Given the description of an element on the screen output the (x, y) to click on. 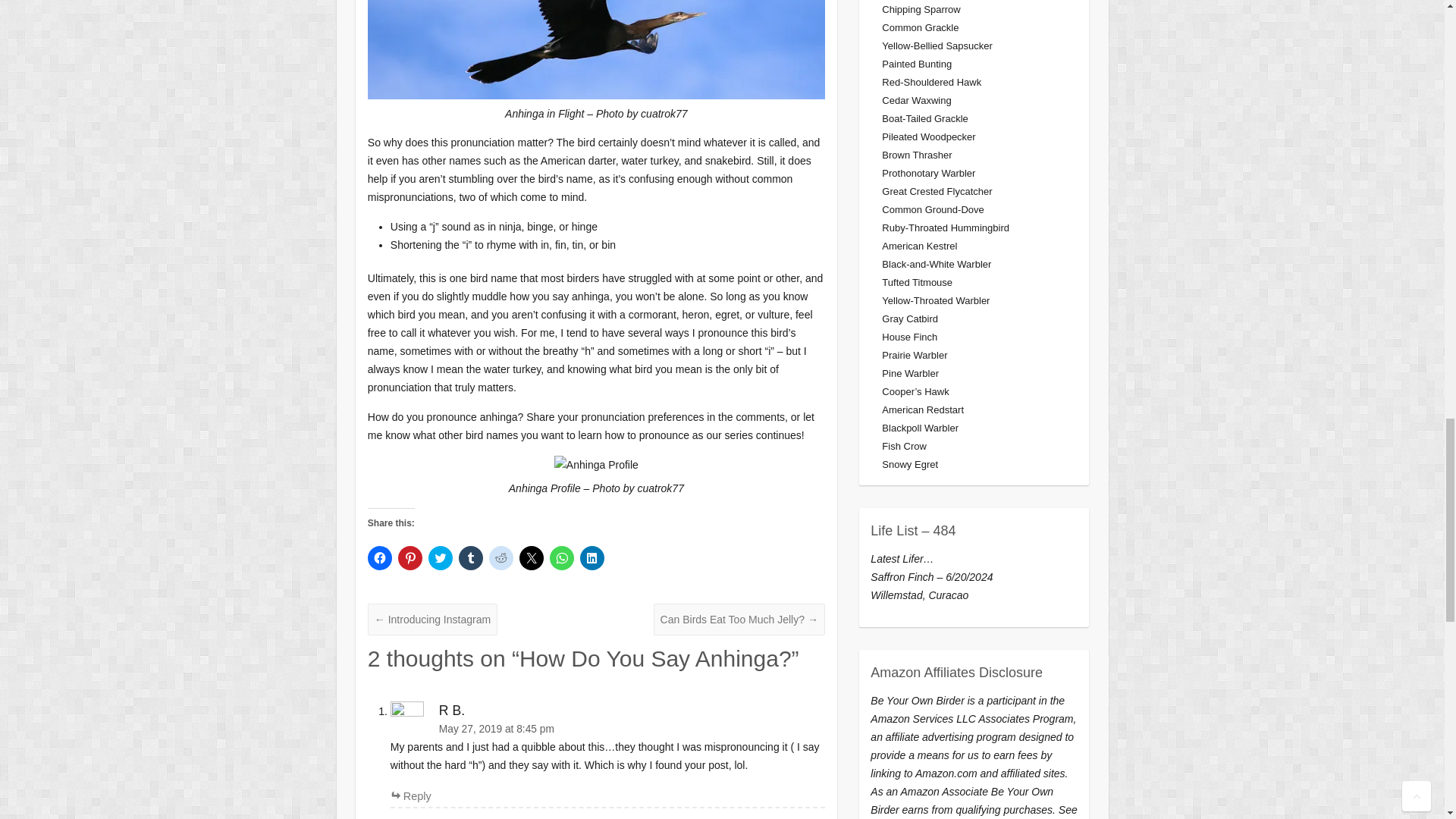
Click to share on LinkedIn (591, 558)
Reply (410, 796)
Click to share on Reddit (501, 558)
Click to share on Pinterest (409, 558)
Click to share on X (531, 558)
Click to share on Facebook (379, 558)
Click to share on Twitter (440, 558)
May 27, 2019 at 8:45 pm (607, 728)
Click to share on Tumblr (470, 558)
Click to share on WhatsApp (561, 558)
